Given the description of an element on the screen output the (x, y) to click on. 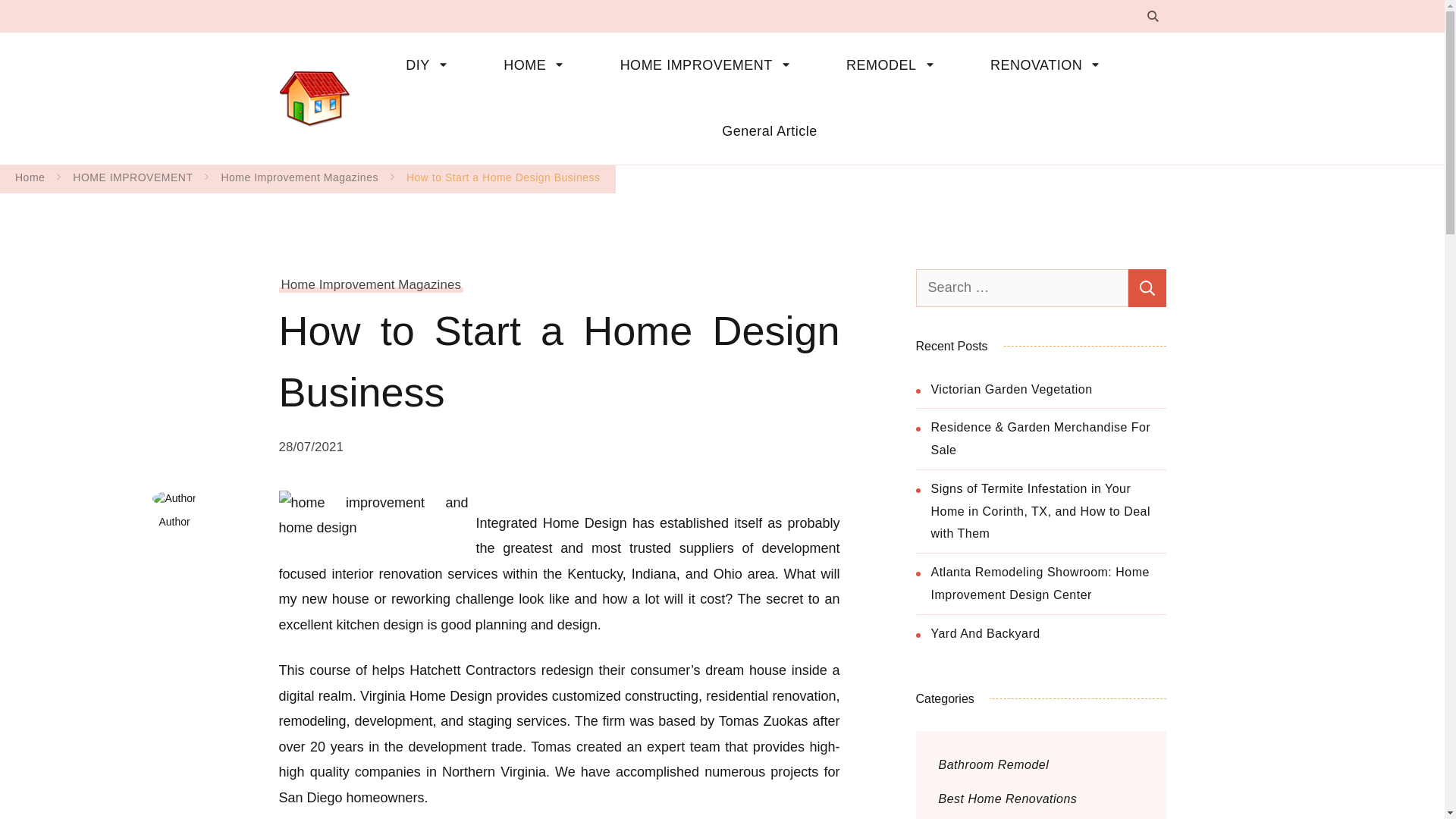
REMODEL (896, 65)
DIY (431, 65)
HOME IMPROVEMENT (710, 65)
HOME (538, 65)
Search (1147, 287)
General Article (757, 131)
RENOVATION (1051, 65)
Search (1147, 287)
dreamstreetlive.com (453, 85)
